Given the description of an element on the screen output the (x, y) to click on. 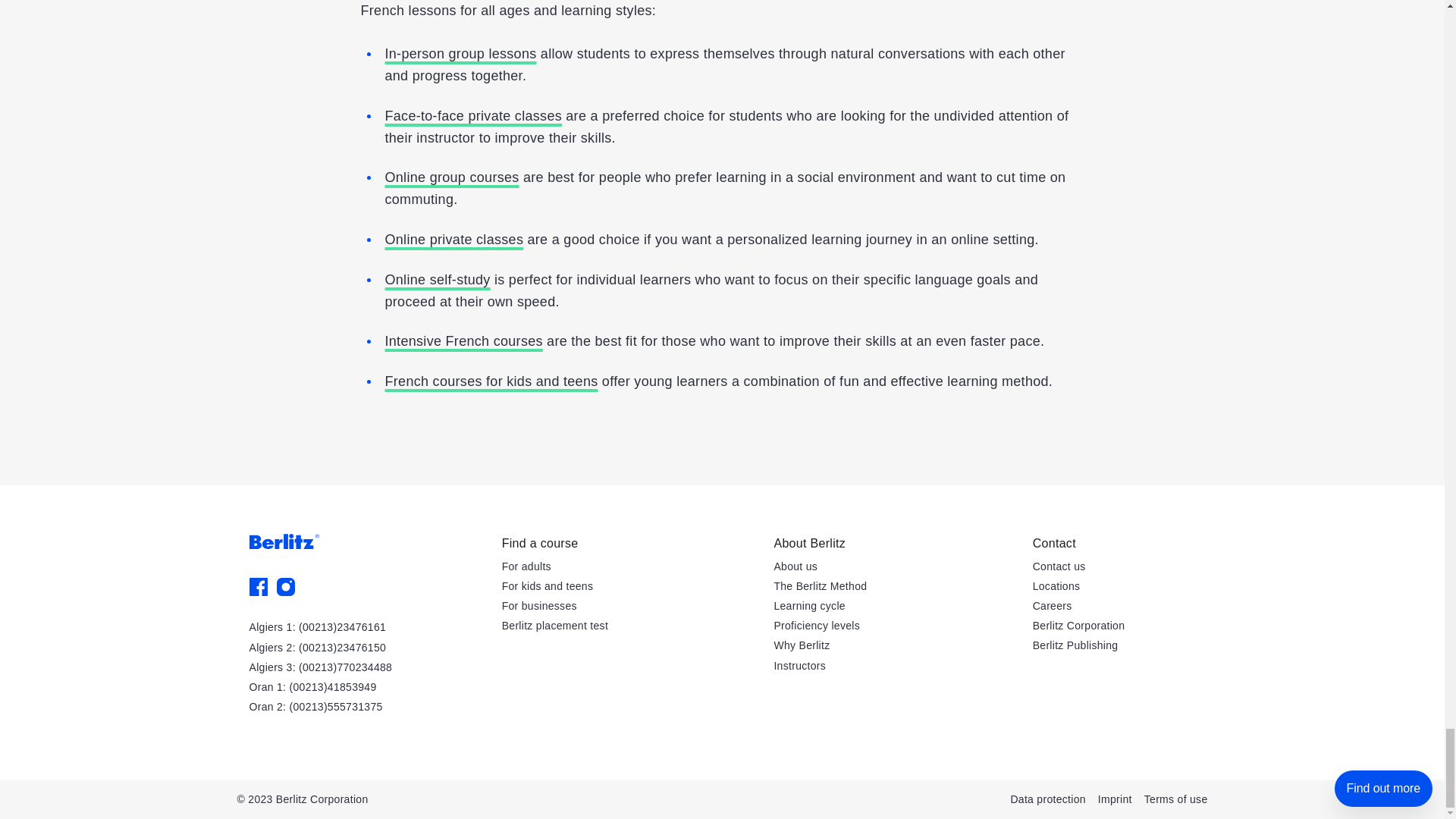
home (283, 540)
